Given the description of an element on the screen output the (x, y) to click on. 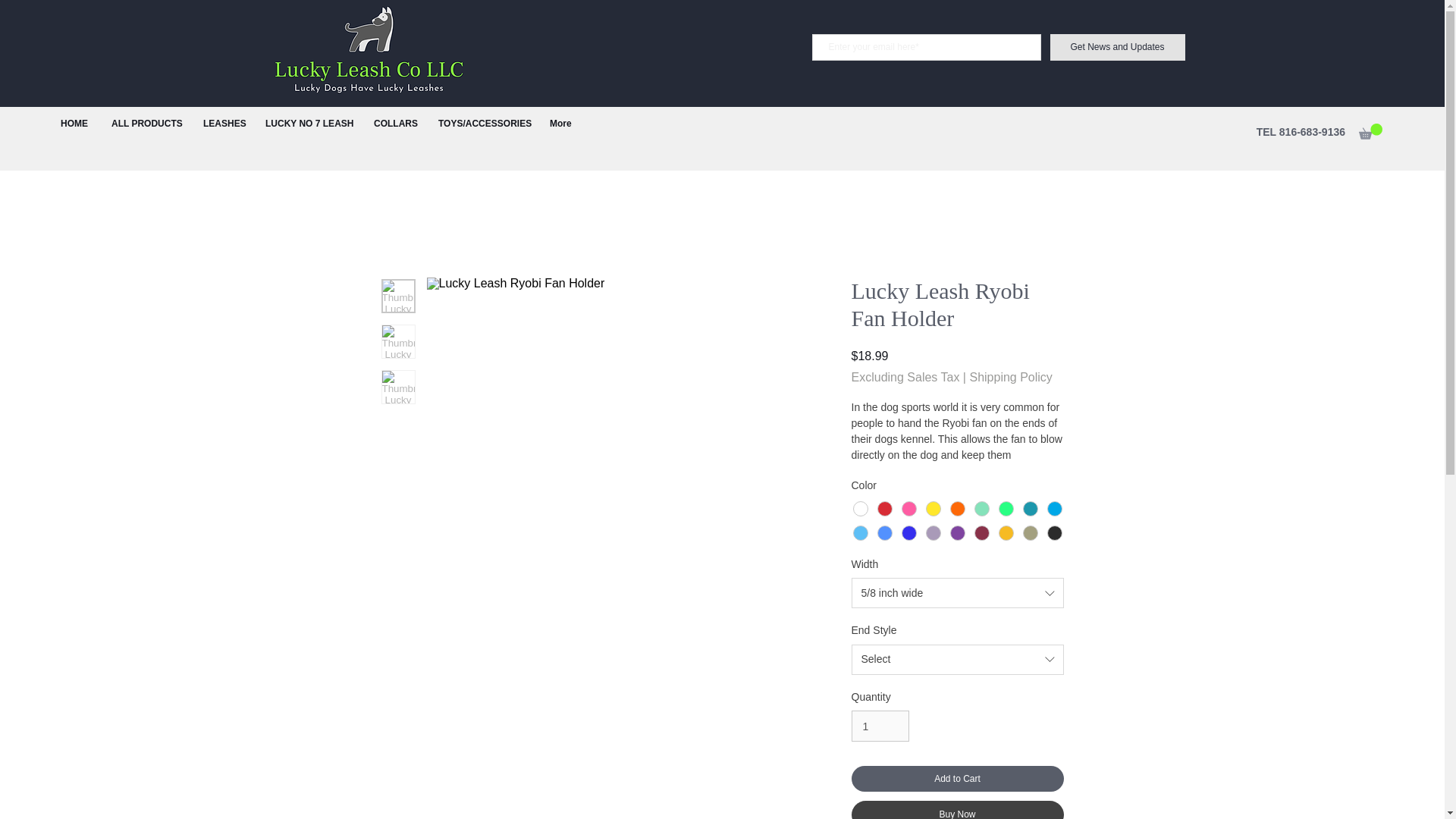
Get News and Updates (1117, 47)
ALL PRODUCTS (146, 123)
Add to Cart (956, 778)
Select (956, 659)
LUCKY NO 7 LEASH (307, 123)
TEL 816-683-9136 (1300, 132)
COLLARS (394, 123)
HOME (74, 123)
1 (879, 726)
Buy Now (956, 809)
